Given the description of an element on the screen output the (x, y) to click on. 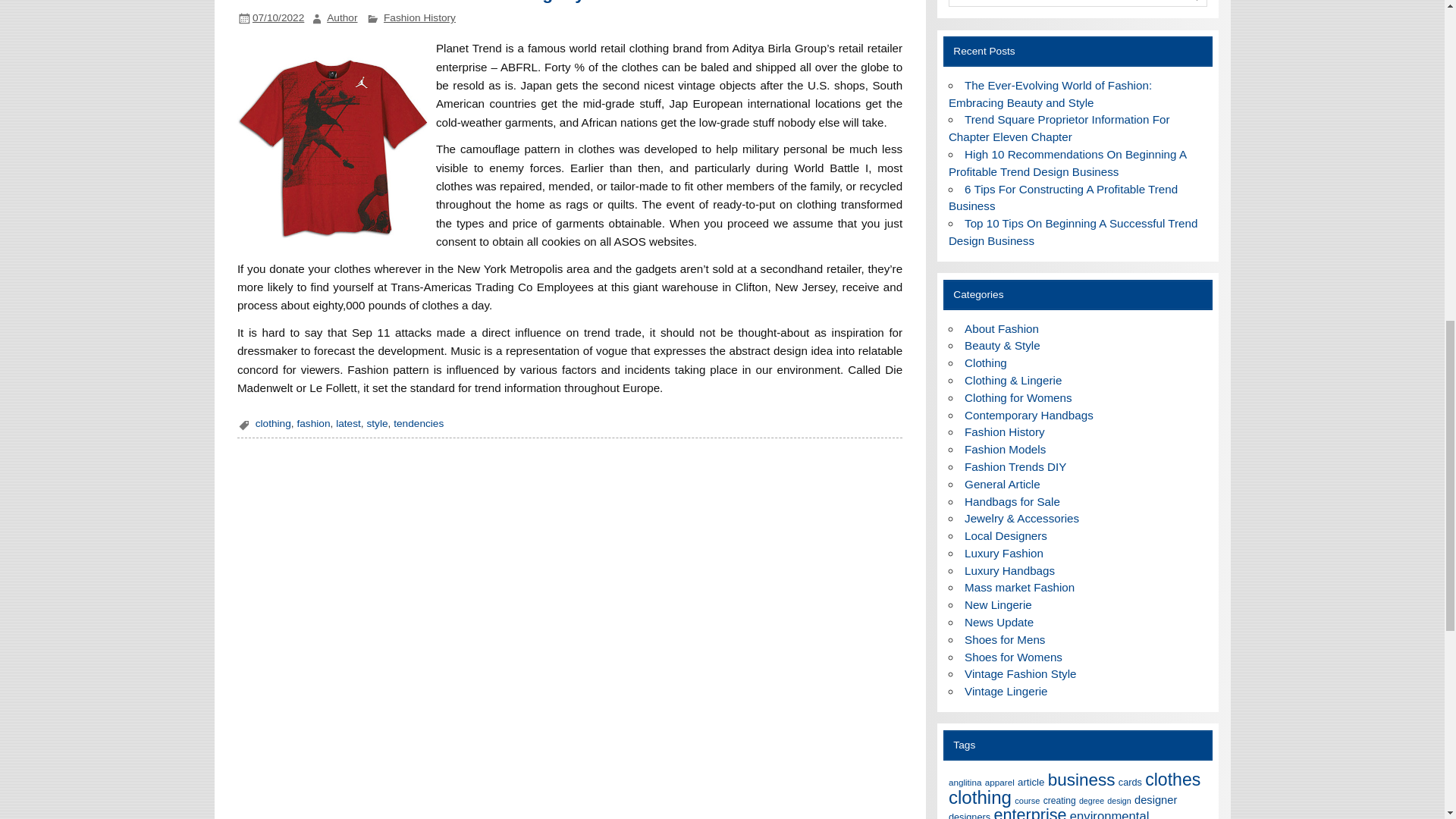
clothing (273, 423)
View all posts by Author (341, 17)
Top 10 Tips On Beginning A Successful Trend Design Business (1073, 232)
Author (341, 17)
fashion (313, 423)
style (376, 423)
tendencies (418, 423)
latest (348, 423)
6 Tips For Constructing A Profitable Trend Business (1063, 197)
12:40 (277, 17)
Fashion History (419, 17)
